Given the description of an element on the screen output the (x, y) to click on. 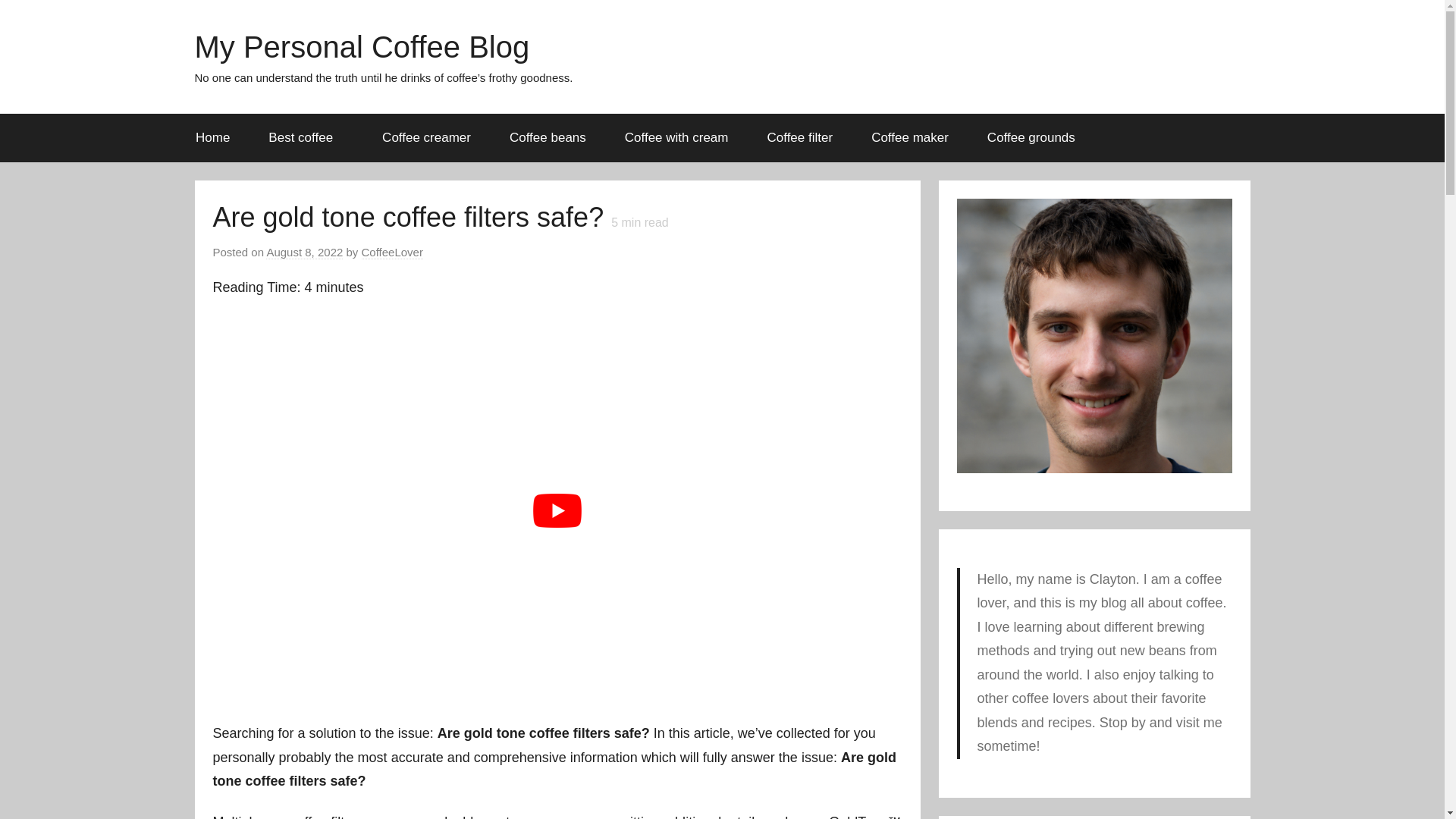
View all posts by CoffeeLover (392, 252)
Coffee creamer (426, 137)
August 8, 2022 (304, 252)
My Personal Coffee Blog (361, 46)
Coffee beans (547, 137)
Best coffee (305, 137)
CoffeeLover (392, 252)
Home (212, 137)
Coffee with cream (676, 137)
Coffee maker (909, 137)
Coffee filter (799, 137)
Coffee grounds (1031, 137)
